Given the description of an element on the screen output the (x, y) to click on. 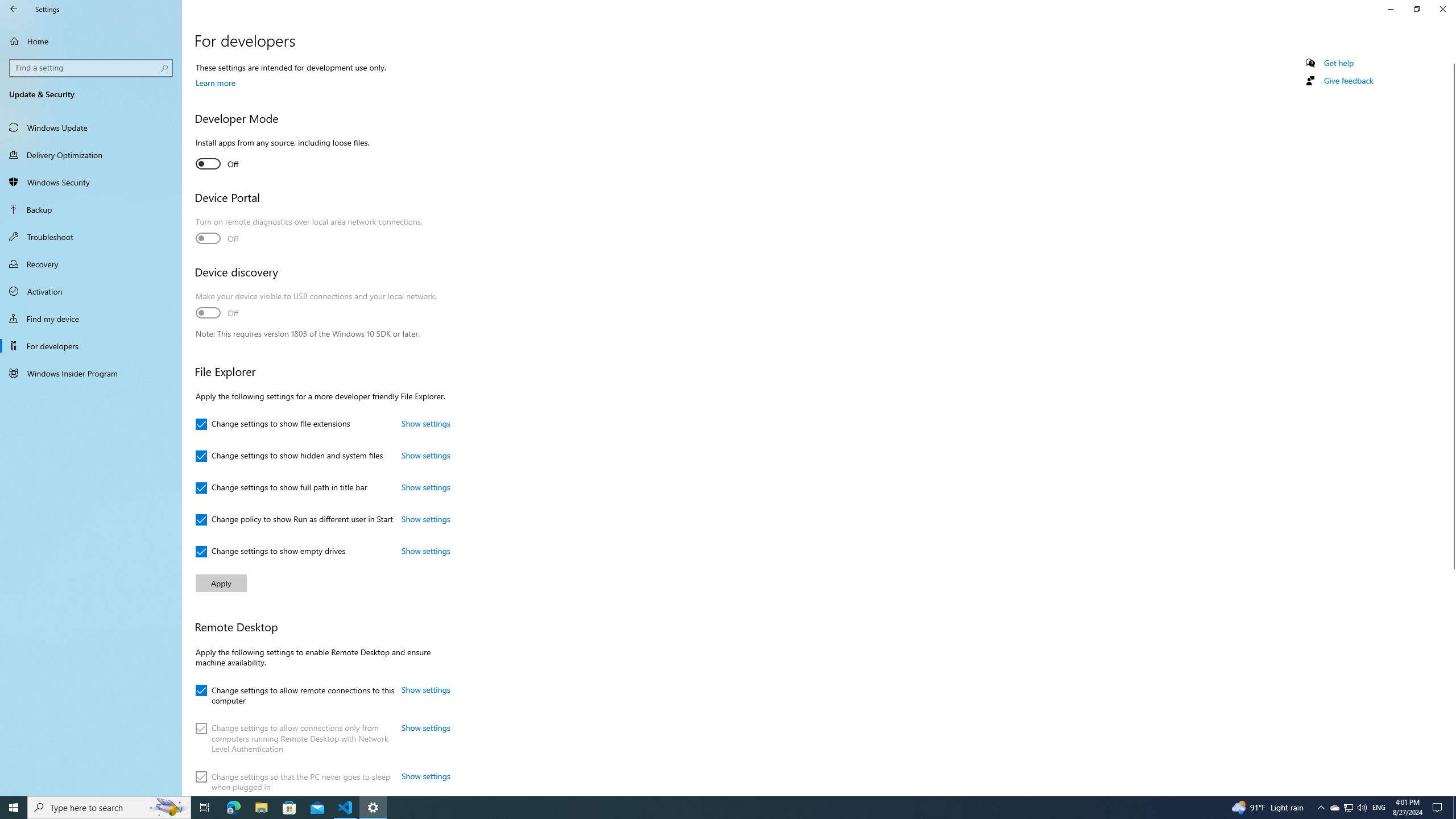
Vertical Small Increase (1451, 791)
Vertical (1451, 425)
Change settings to show file extensions (272, 424)
Restore Settings (1416, 9)
Vertical Small Decrease (1451, 58)
Show settings: Change settings to show empty drives (425, 550)
Show settings: Change settings to show file extensions (425, 423)
Close Settings (1442, 9)
Change settings to show hidden and system files (288, 456)
